Given the description of an element on the screen output the (x, y) to click on. 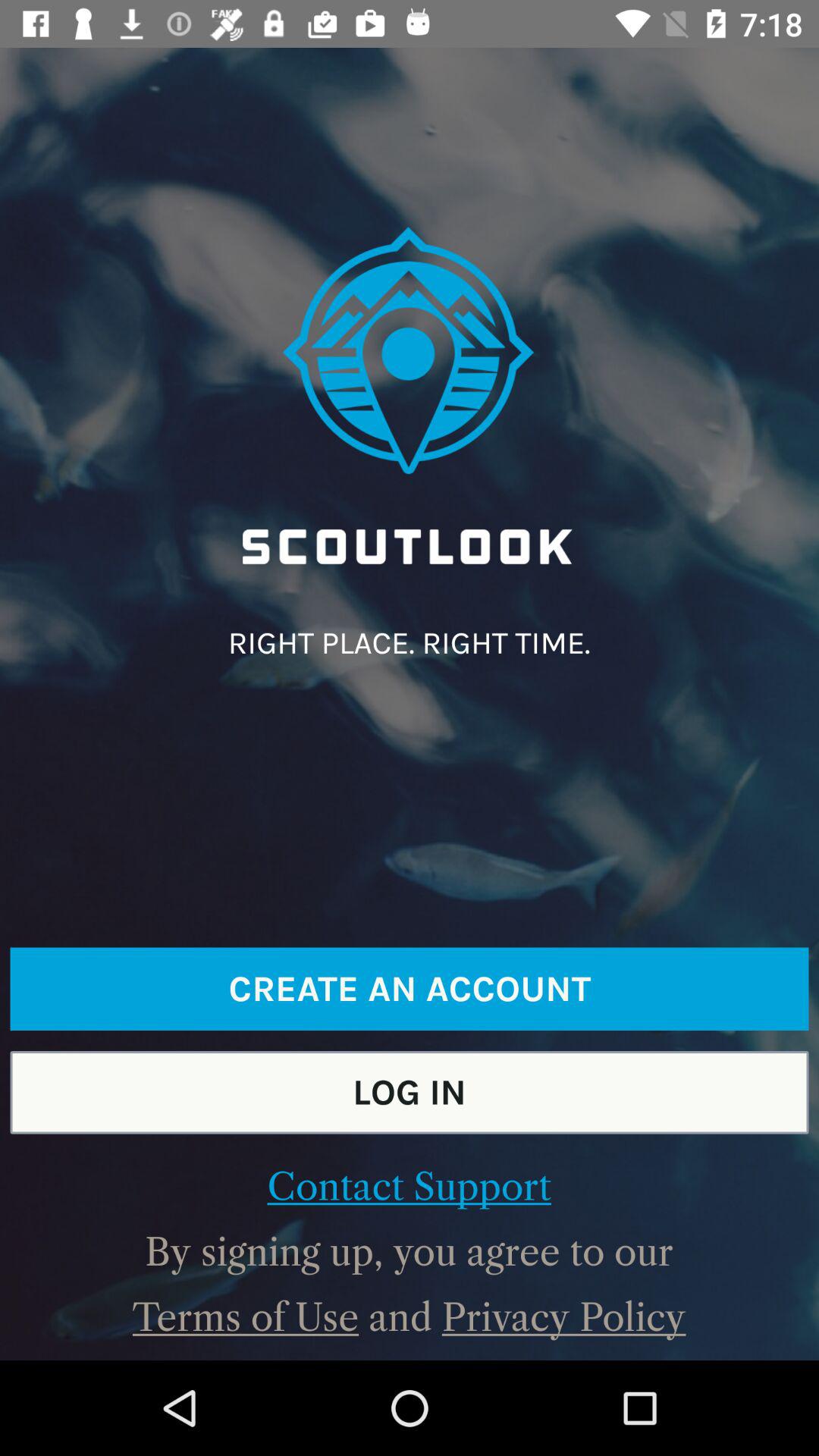
choose icon above the contact support item (409, 1092)
